Given the description of an element on the screen output the (x, y) to click on. 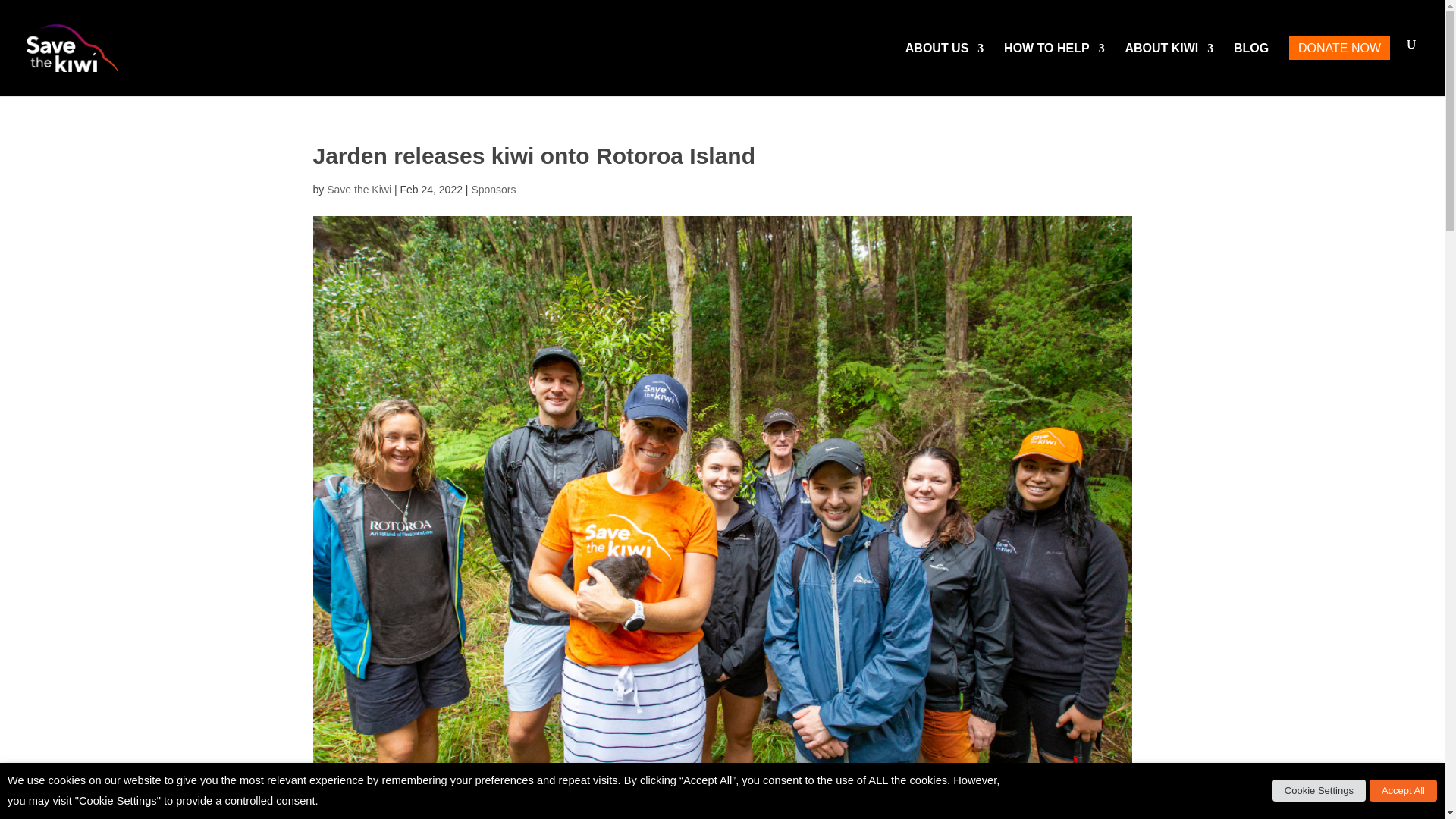
DONATE NOW (1339, 66)
HOW TO HELP (1054, 67)
ABOUT KIWI (1168, 67)
ABOUT US (944, 67)
